Given the description of an element on the screen output the (x, y) to click on. 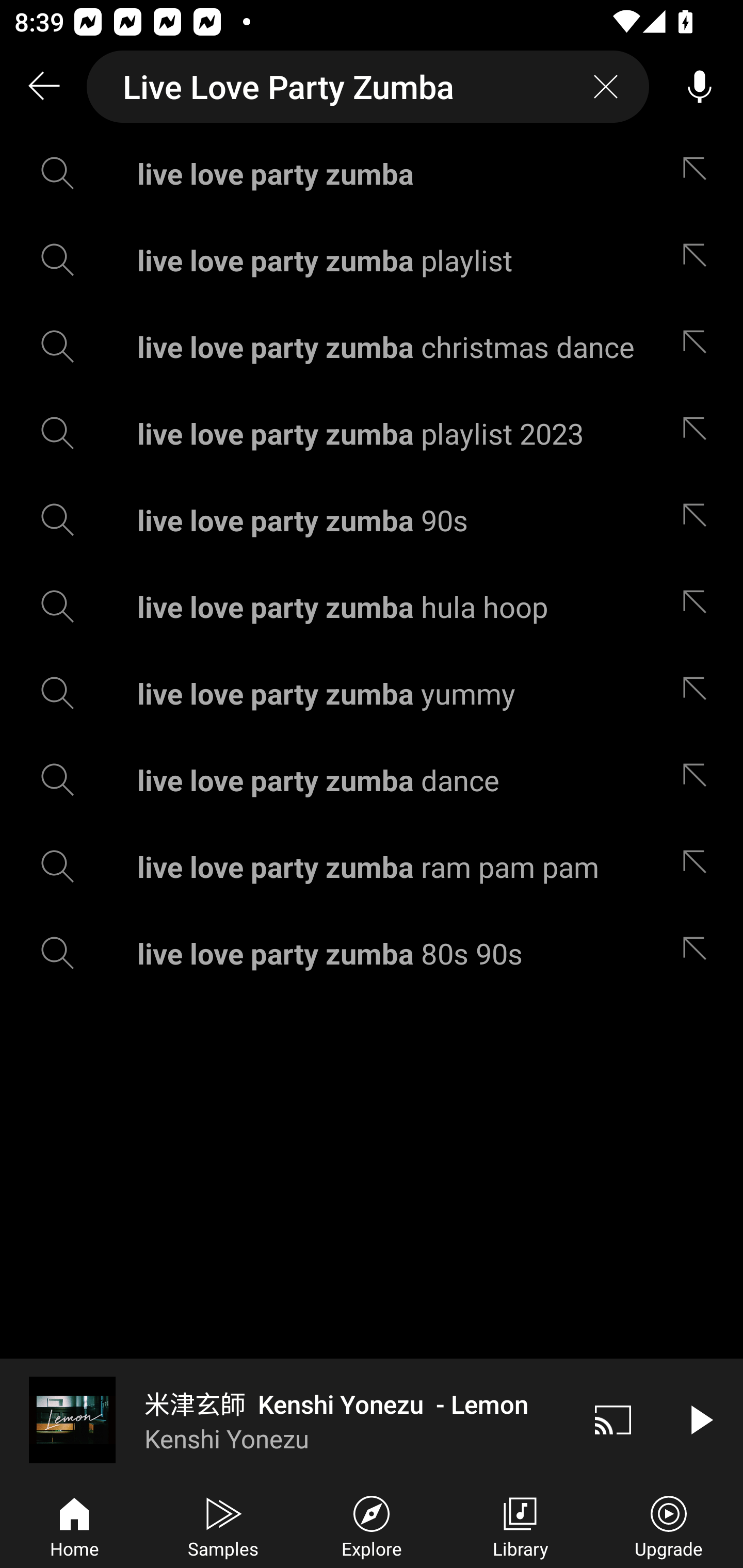
Search back (43, 86)
Live Love Party Zumba (367, 86)
Clear search (605, 86)
Voice search (699, 86)
Edit suggestion live love party zumba (699, 173)
Edit suggestion live love party zumba playlist (699, 259)
Edit suggestion live love party zumba 90s (699, 519)
Edit suggestion live love party zumba hula hoop (699, 605)
Edit suggestion live love party zumba yummy (699, 692)
Edit suggestion live love party zumba dance (699, 779)
Edit suggestion live love party zumba ram pam pam (699, 866)
Edit suggestion live love party zumba 80s 90s (699, 953)
米津玄師  Kenshi Yonezu  - Lemon Kenshi Yonezu (284, 1419)
Cast. Disconnected (612, 1419)
Play video (699, 1419)
Home (74, 1524)
Samples (222, 1524)
Explore (371, 1524)
Library (519, 1524)
Upgrade (668, 1524)
